Given the description of an element on the screen output the (x, y) to click on. 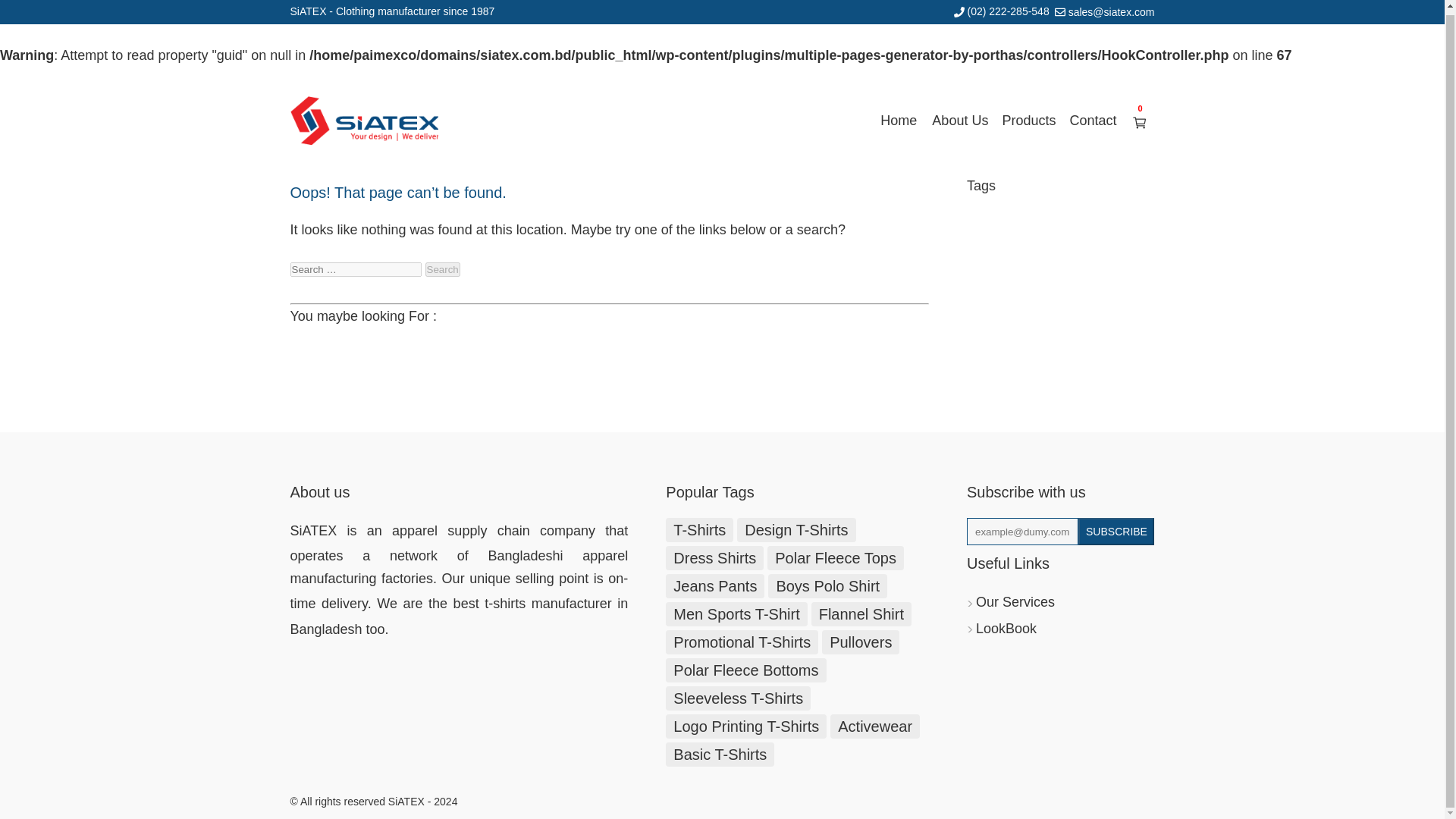
Home (898, 120)
Products (1028, 120)
Cart (1139, 122)
Products (1028, 120)
Home (898, 120)
Search (442, 269)
Search (442, 269)
About Us (959, 120)
About Us (959, 120)
